Given the description of an element on the screen output the (x, y) to click on. 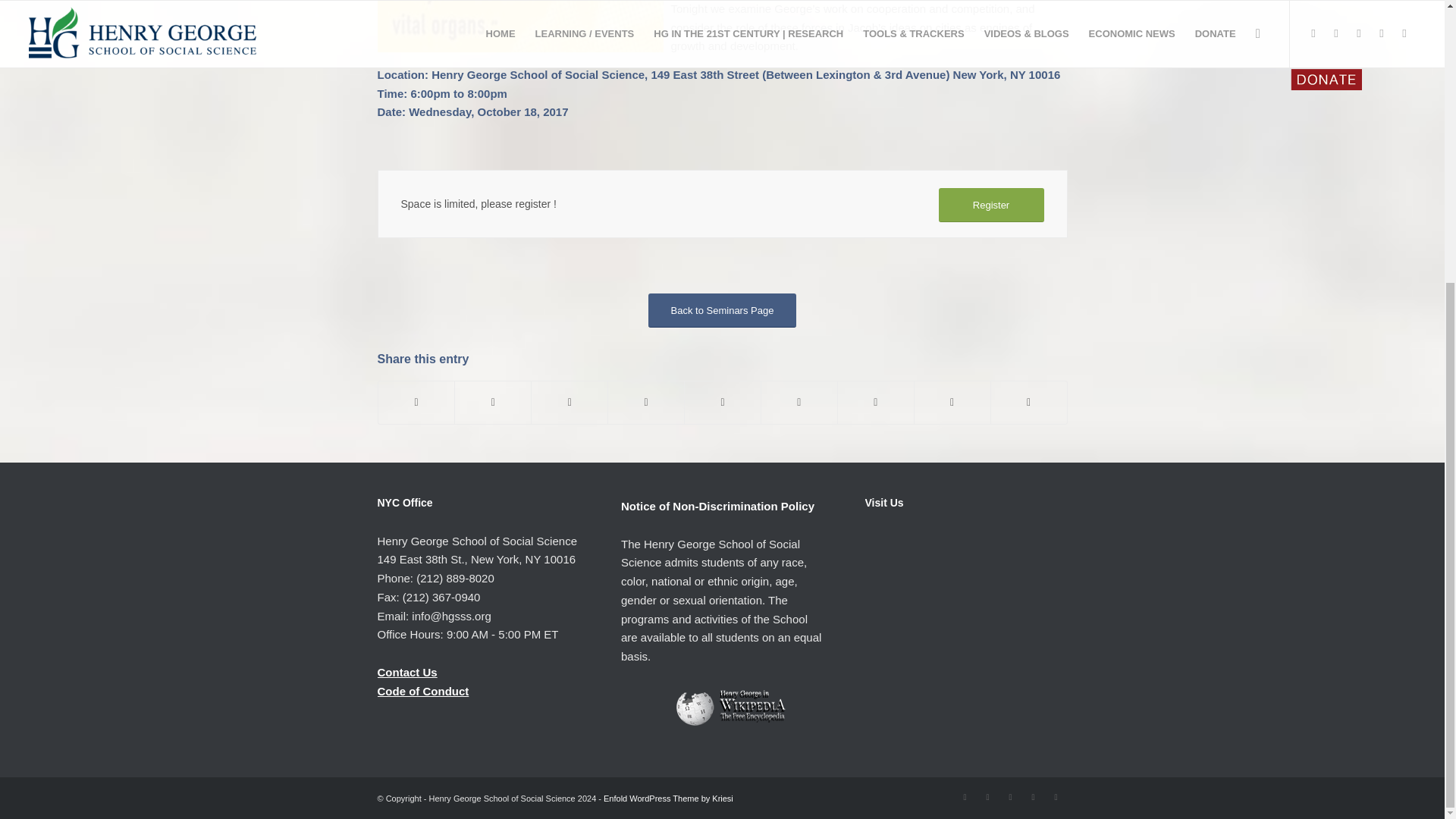
Twitter (964, 796)
